Given the description of an element on the screen output the (x, y) to click on. 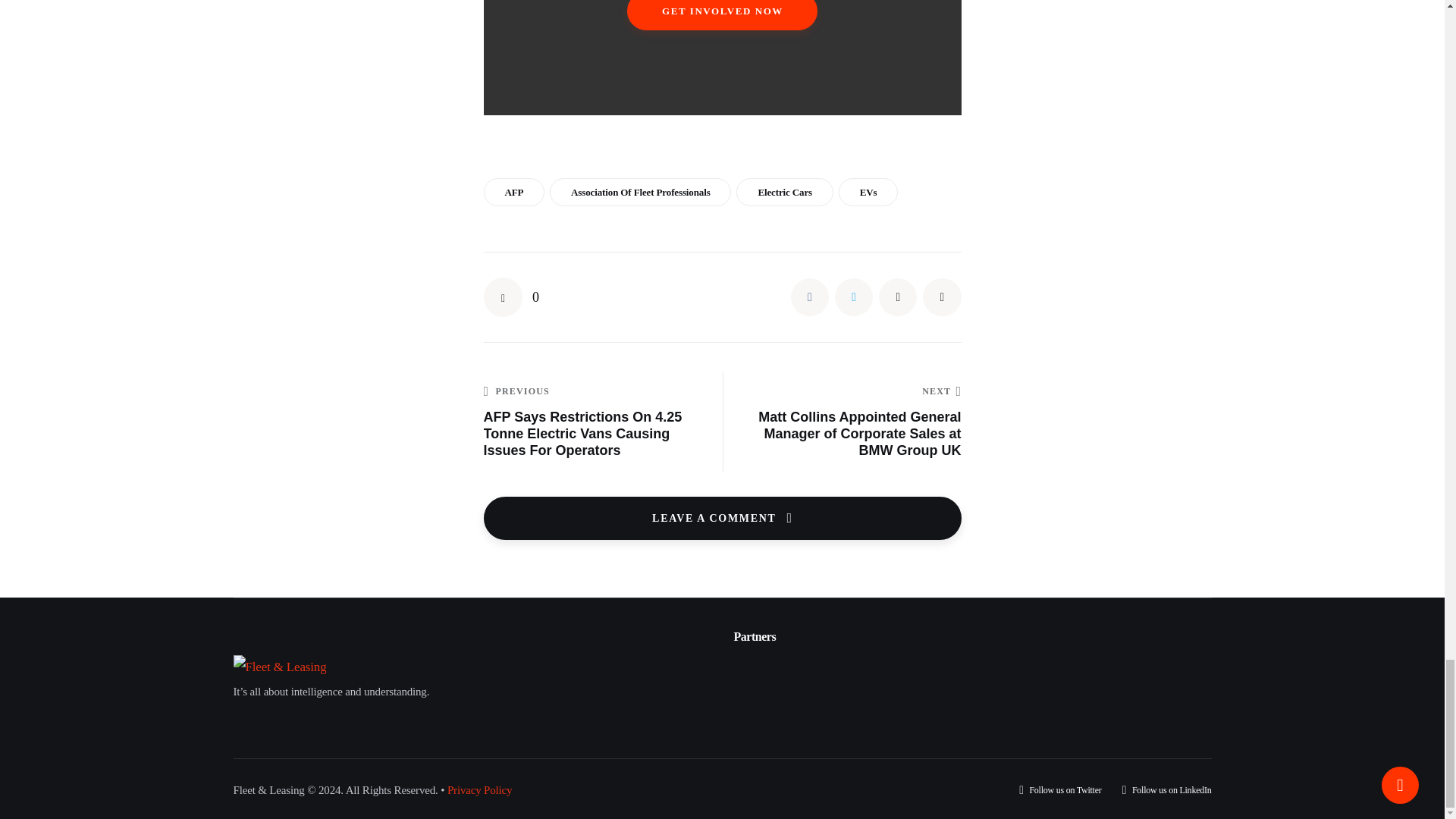
Like (511, 296)
Copy URL to clipboard (941, 297)
